Given the description of an element on the screen output the (x, y) to click on. 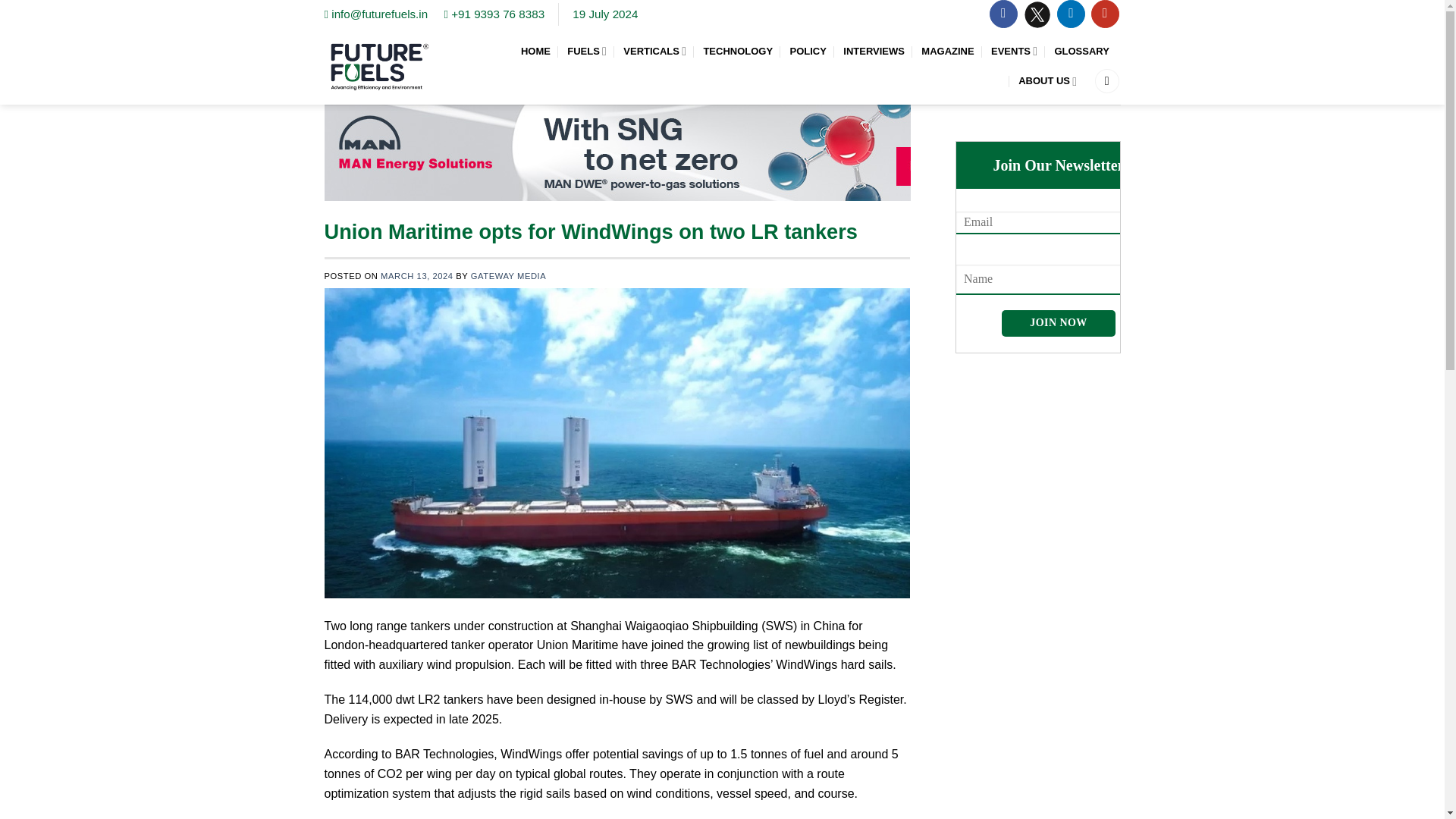
VERTICALS (654, 51)
HOME (535, 51)
FUELS (587, 51)
GLOSSARY  (1083, 51)
MAGAZINE (947, 51)
Join Now (1058, 323)
futurefuels - Advancing Efficiency and Environment (379, 66)
GATEWAY MEDIA (508, 275)
MARCH 13, 2024 (416, 275)
POLICY (807, 51)
EVENTS (1013, 51)
INTERVIEWS (873, 51)
ABOUT US (1047, 81)
TECHNOLOGY (738, 51)
